Given the description of an element on the screen output the (x, y) to click on. 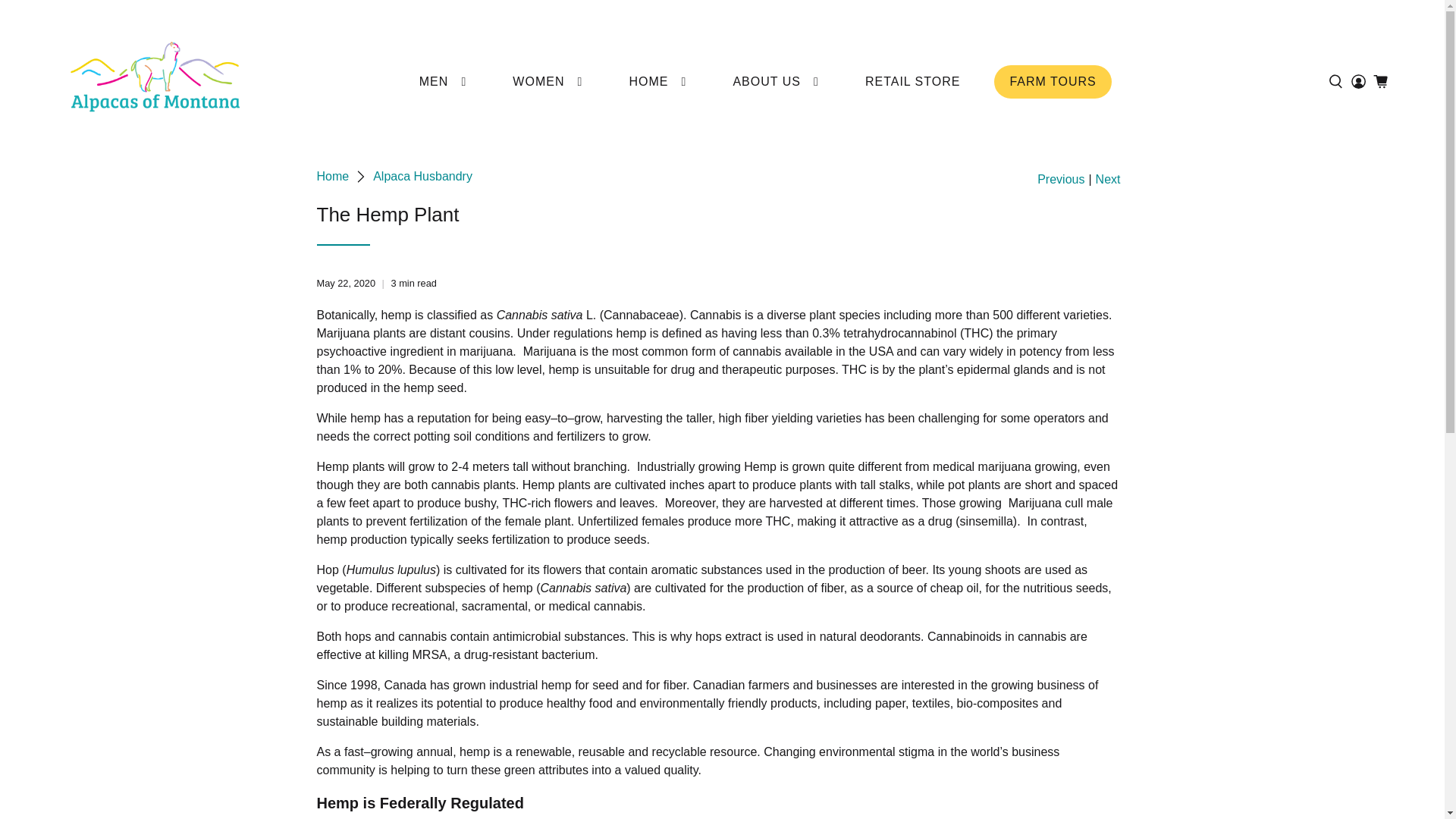
Next (1108, 179)
MEN (443, 81)
Previous (1060, 179)
Alpacas of Montana (155, 81)
Alpacas of Montana (333, 176)
Alpaca Husbandry (421, 176)
WOMEN (547, 81)
